Given the description of an element on the screen output the (x, y) to click on. 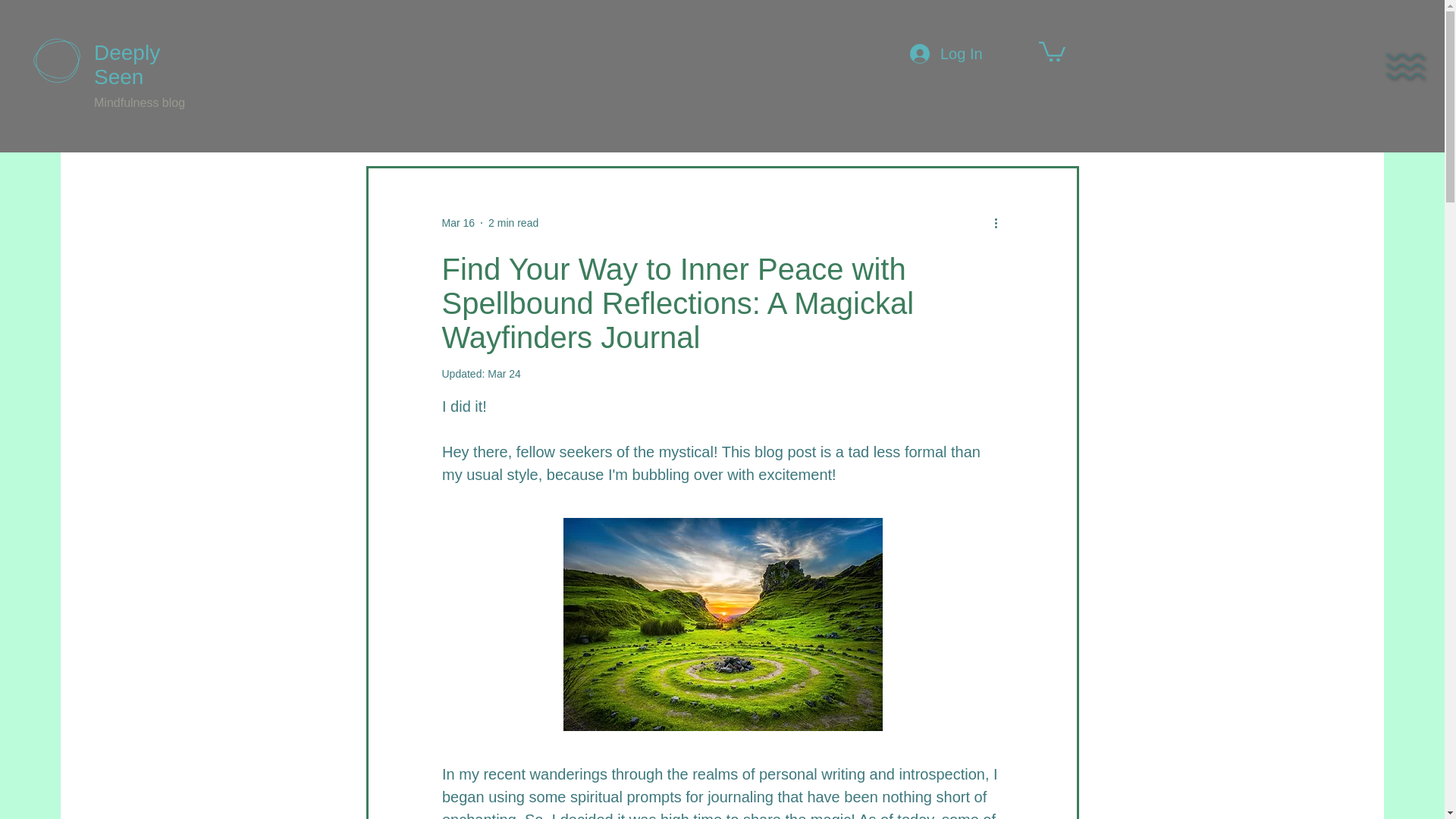
Deeply Seen (127, 64)
Mar 16 (457, 223)
Mindfulness blog (139, 102)
Mar 24 (504, 373)
Log In (945, 53)
2 min read (512, 223)
